Given the description of an element on the screen output the (x, y) to click on. 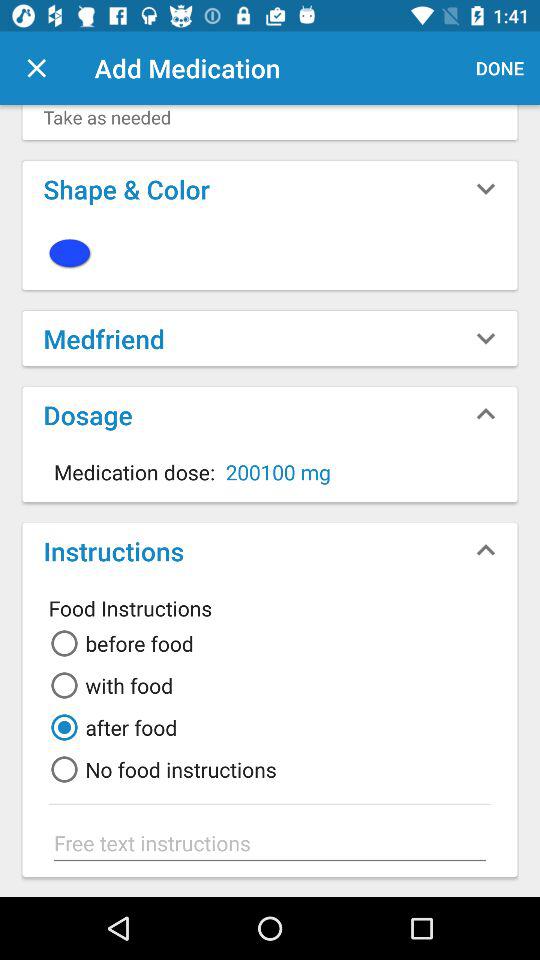
click on the drop down of medfriend (486, 338)
click on the button next to shape  color (486, 188)
select the third option in food instructions (110, 727)
click on the done button at the top right corner of the page (500, 68)
click on the first radio button along with the text beside to it (118, 644)
